Given the description of an element on the screen output the (x, y) to click on. 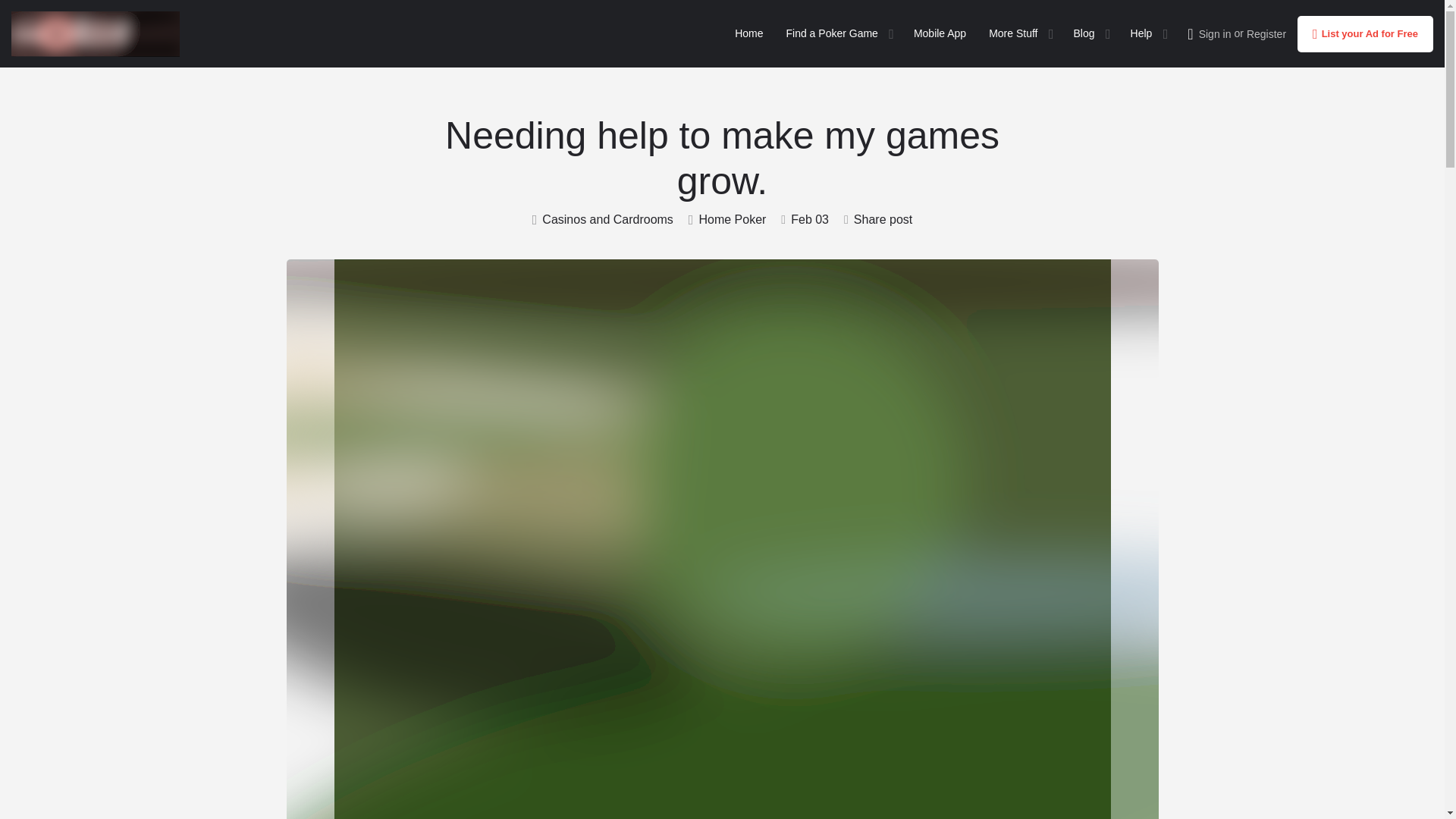
Share post (878, 220)
Home Poker (727, 220)
Find a Poker Game (831, 32)
Sign in (1214, 33)
Register (1265, 33)
Blog (1084, 32)
More Stuff (1012, 32)
Mobile App (940, 32)
Casinos and Cardrooms (602, 220)
Home (748, 32)
Help (1142, 32)
List your Ad for Free (1364, 33)
